Given the description of an element on the screen output the (x, y) to click on. 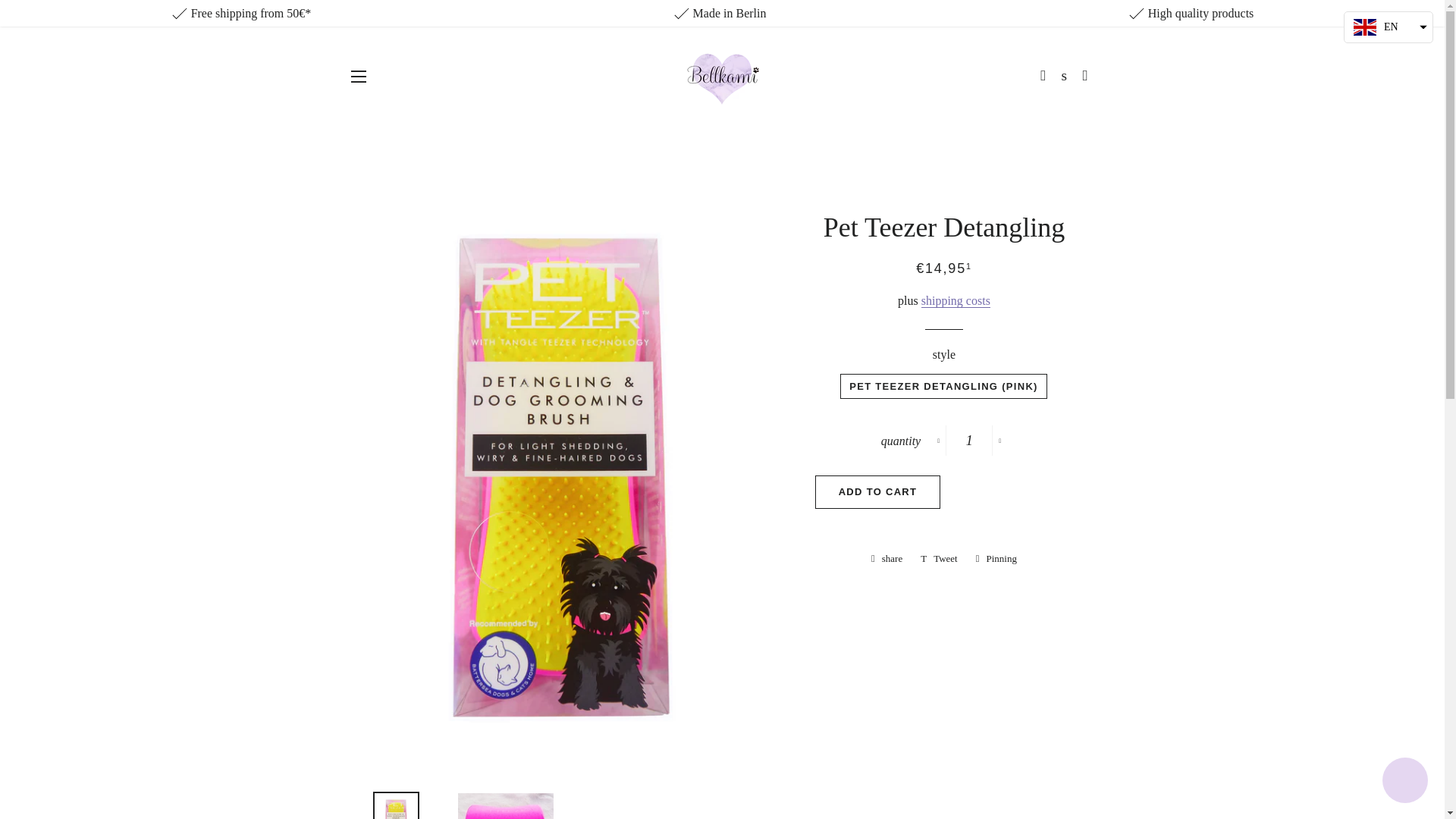
Shopify online store chat (1404, 781)
Share on Facebook (886, 558)
Pin it on Pinterest (996, 558)
Tweet on Twitter (938, 558)
1 (969, 440)
